Given the description of an element on the screen output the (x, y) to click on. 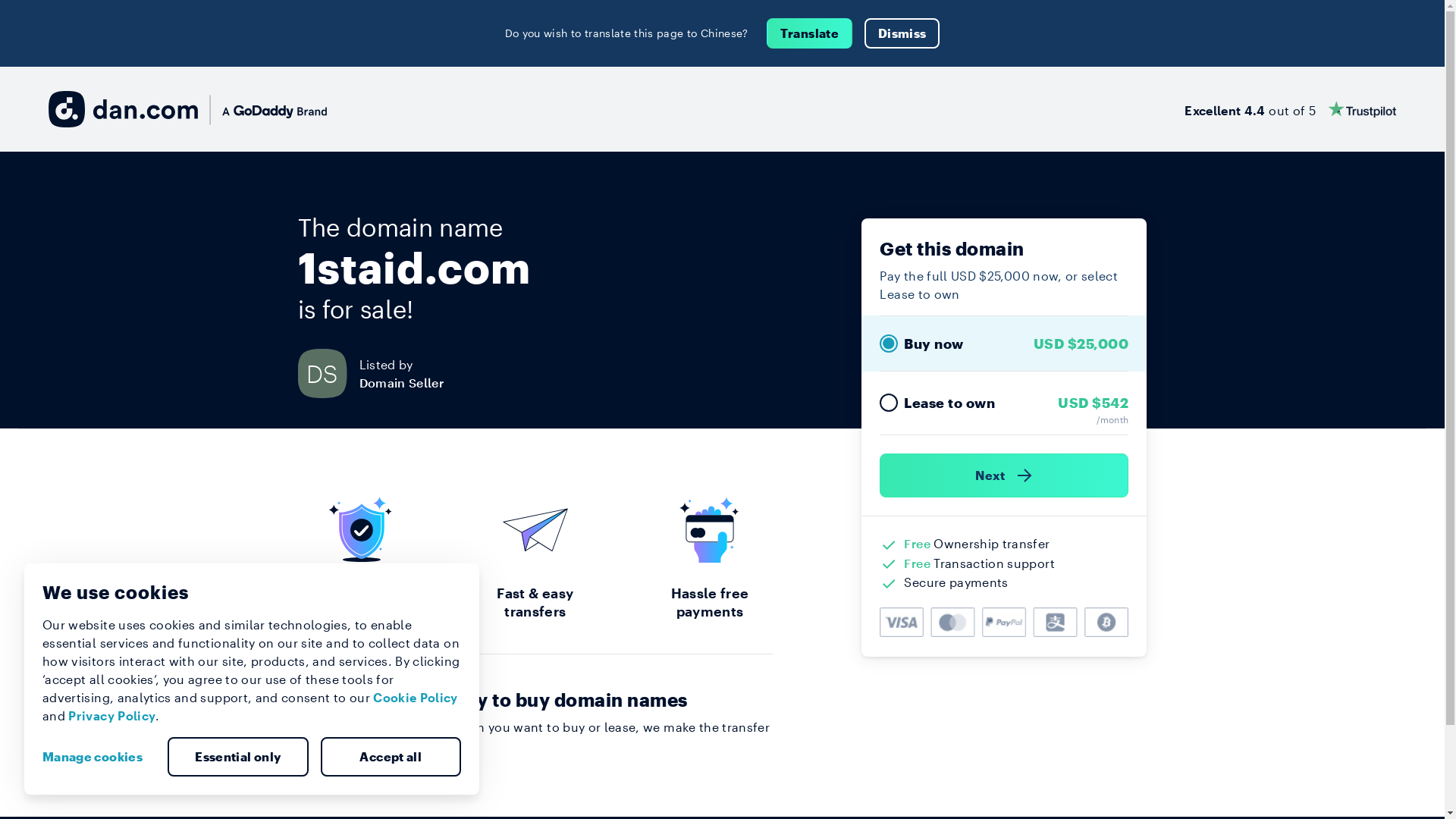
Manage cookies Element type: text (98, 756)
Accept all Element type: text (390, 756)
Translate Element type: text (809, 33)
Essential only Element type: text (237, 756)
Dismiss Element type: text (901, 33)
Next
) Element type: text (1003, 475)
Cookie Policy Element type: text (415, 697)
Excellent 4.4 out of 5 Element type: text (1290, 109)
Privacy Policy Element type: text (111, 715)
